Given the description of an element on the screen output the (x, y) to click on. 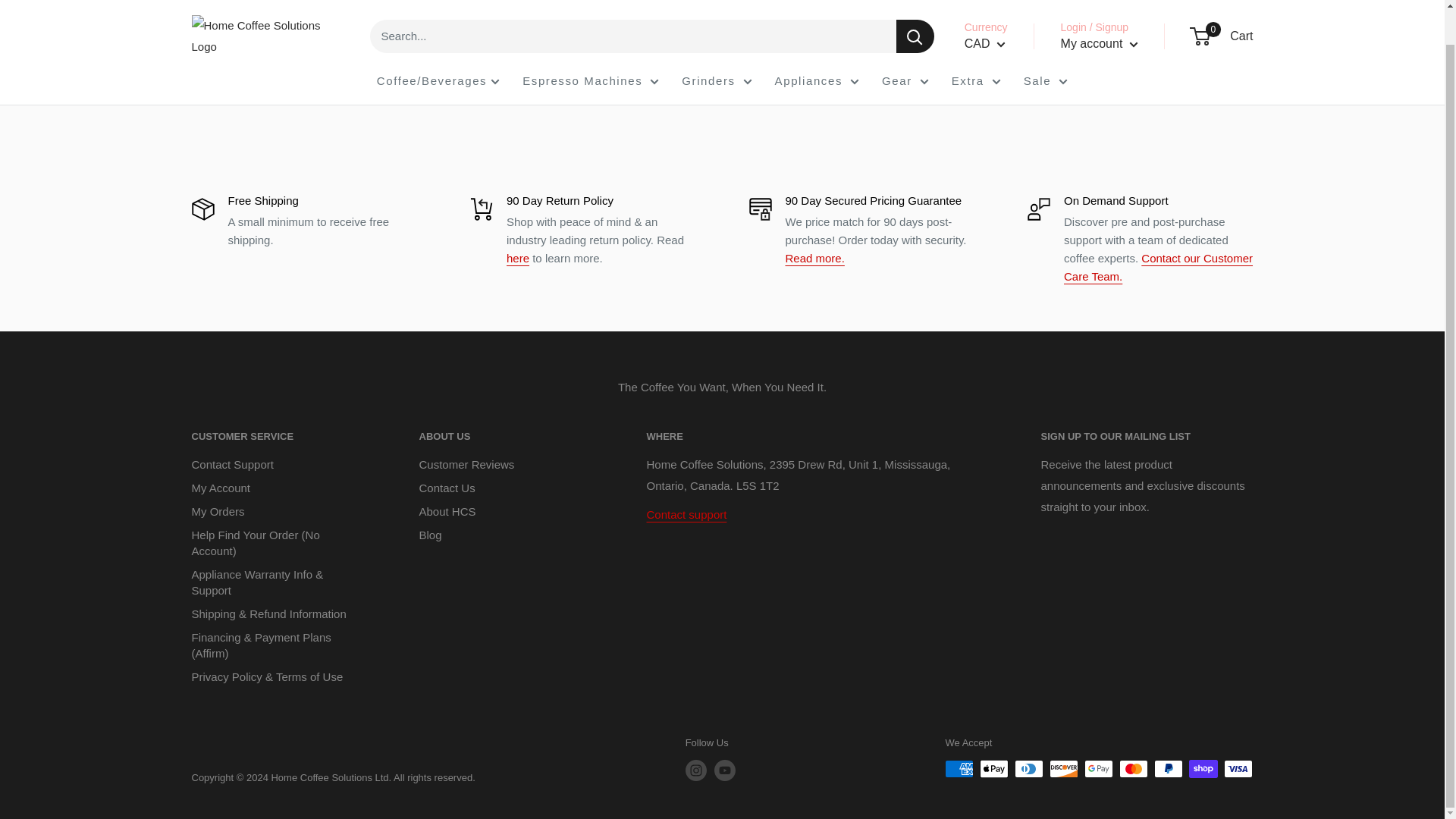
90 Day Secured Lowest Price Guarantee (815, 257)
Contact Info (1158, 266)
Contact Info (686, 513)
